Given the description of an element on the screen output the (x, y) to click on. 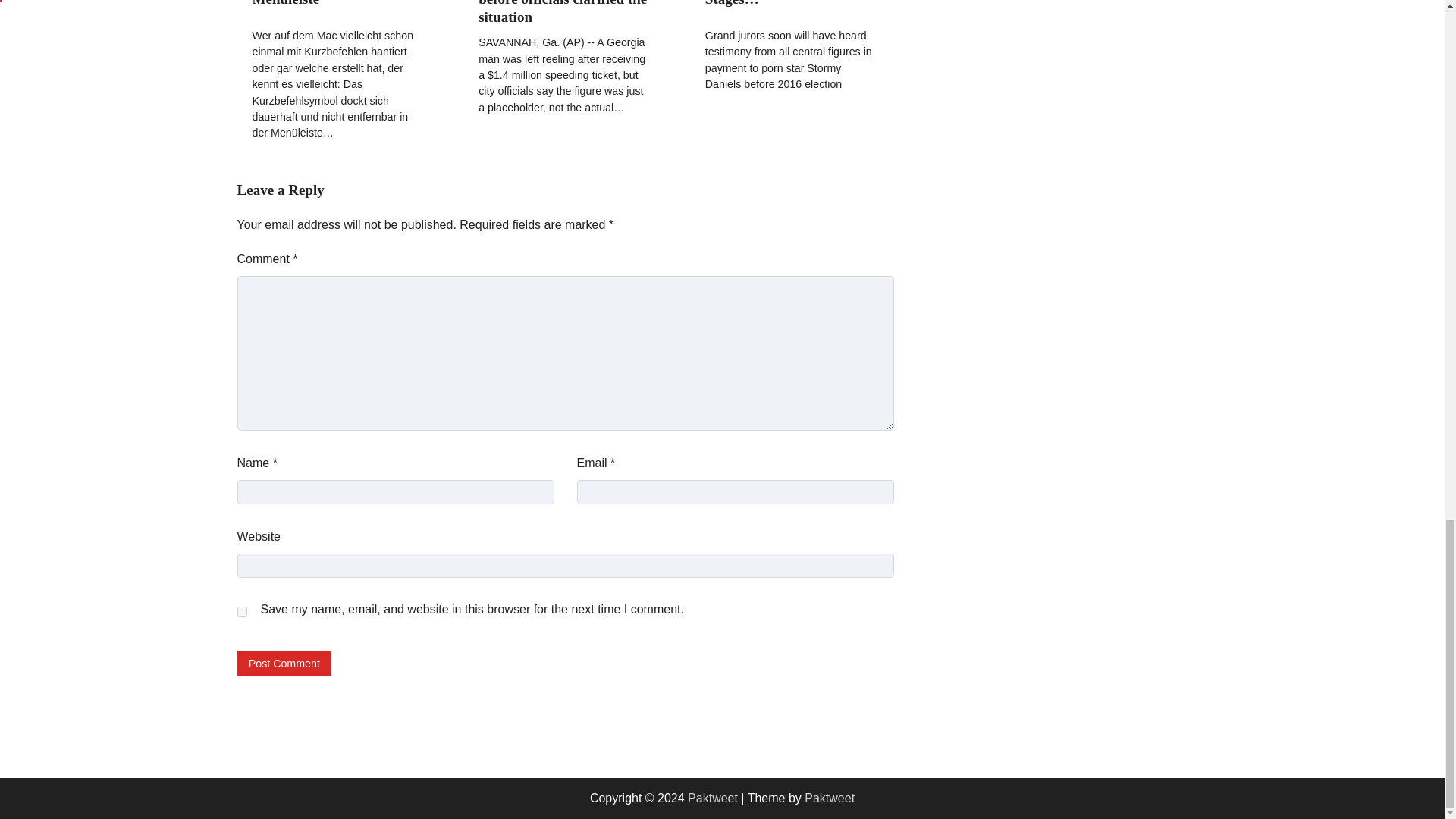
Post Comment (283, 662)
yes (240, 611)
Post Comment (283, 662)
